Given the description of an element on the screen output the (x, y) to click on. 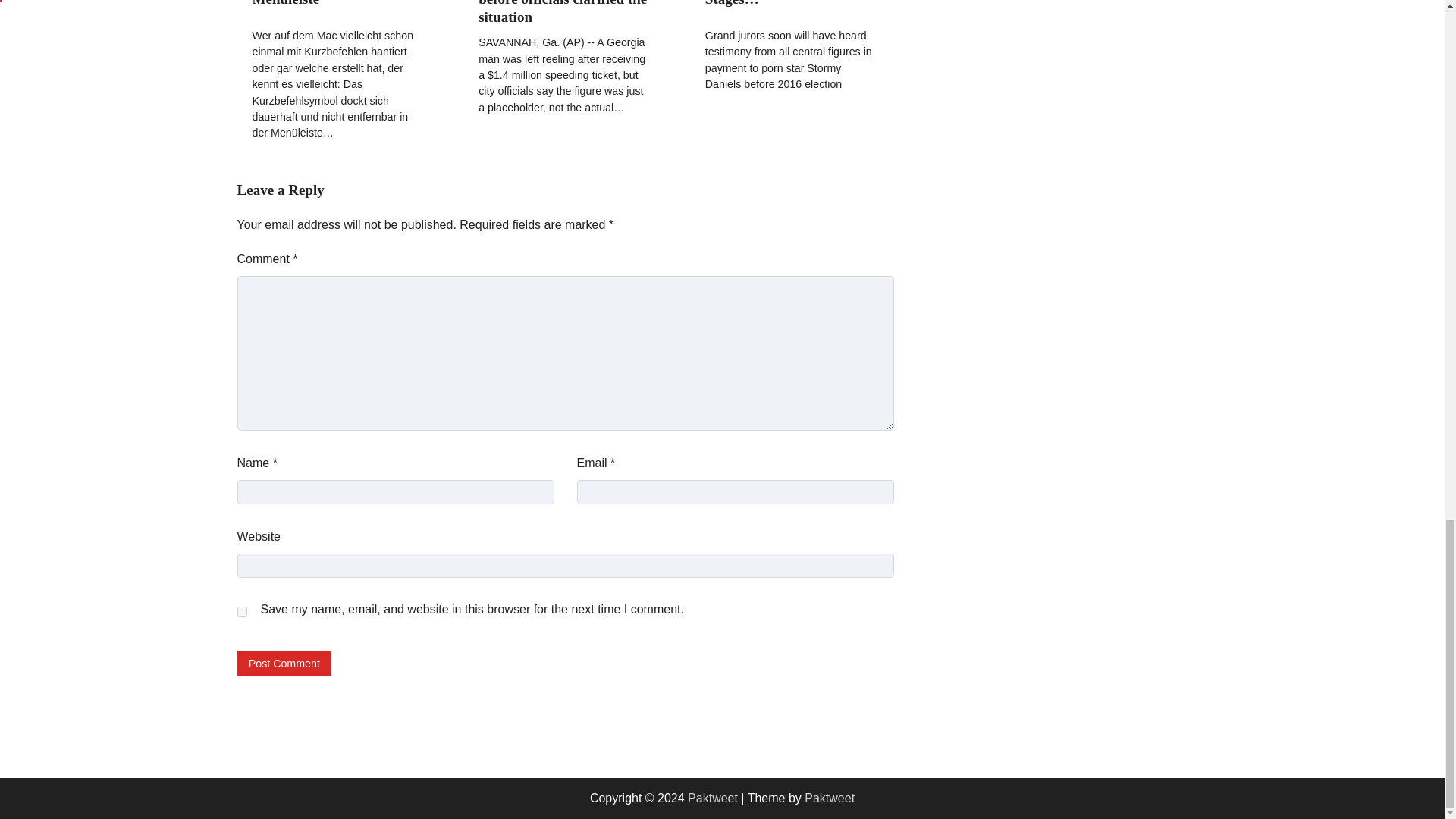
Post Comment (283, 662)
yes (240, 611)
Post Comment (283, 662)
